Given the description of an element on the screen output the (x, y) to click on. 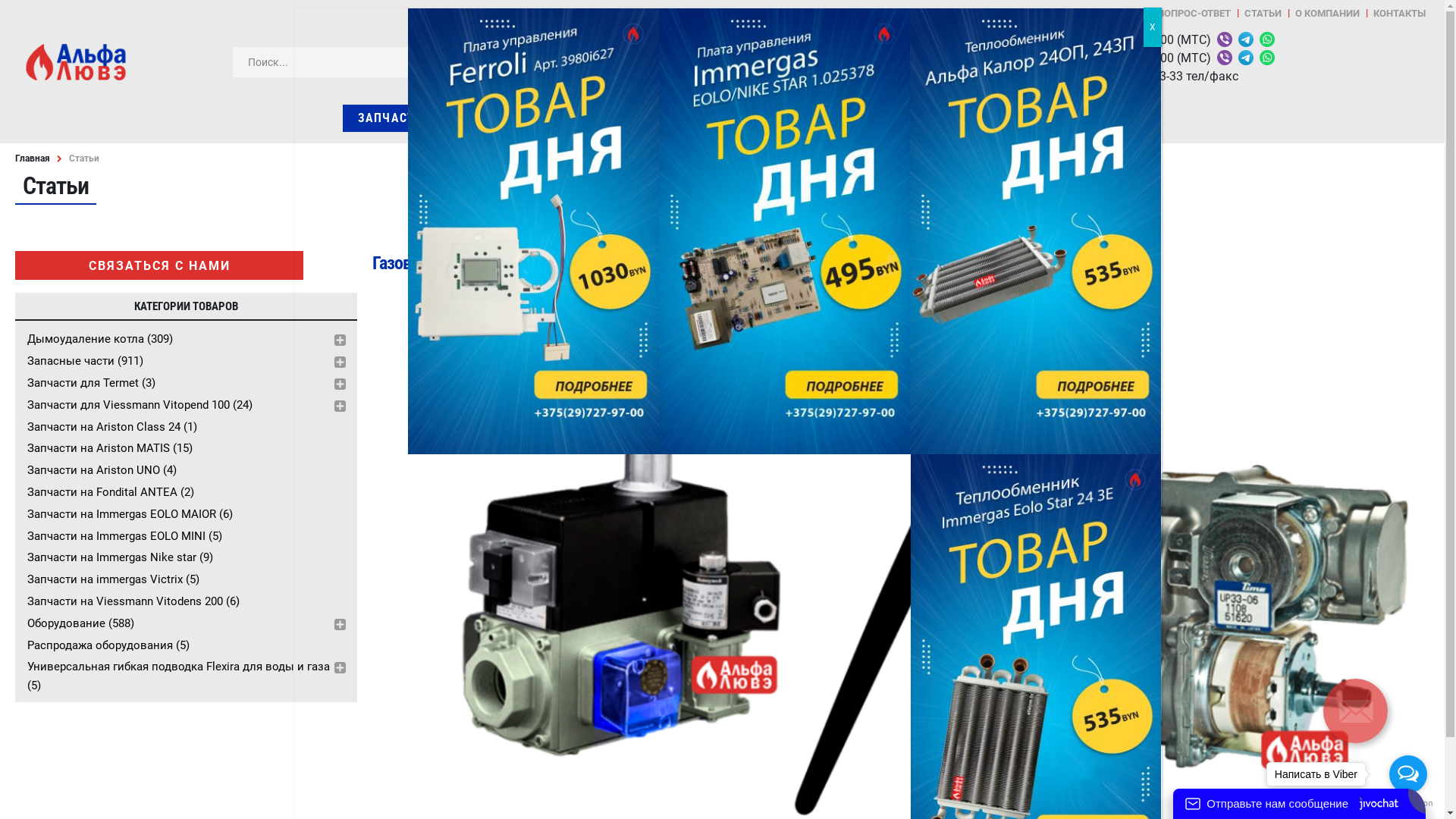
Viber Element type: hover (1223, 39)
Viber Element type: hover (843, 39)
Telegram Element type: hover (1244, 57)
Telegram Element type: hover (864, 39)
Whatsapp Element type: hover (1265, 39)
Telegram Element type: hover (1244, 39)
Whatsapp Element type: hover (885, 39)
alfalyve@tut.by Element type: text (759, 76)
Whatsapp Element type: hover (885, 57)
X Element type: text (1152, 27)
Whatsapp Element type: hover (1265, 57)
Telegram Element type: hover (864, 57)
Viber Element type: hover (1223, 57)
Viber Element type: hover (843, 57)
